Given the description of an element on the screen output the (x, y) to click on. 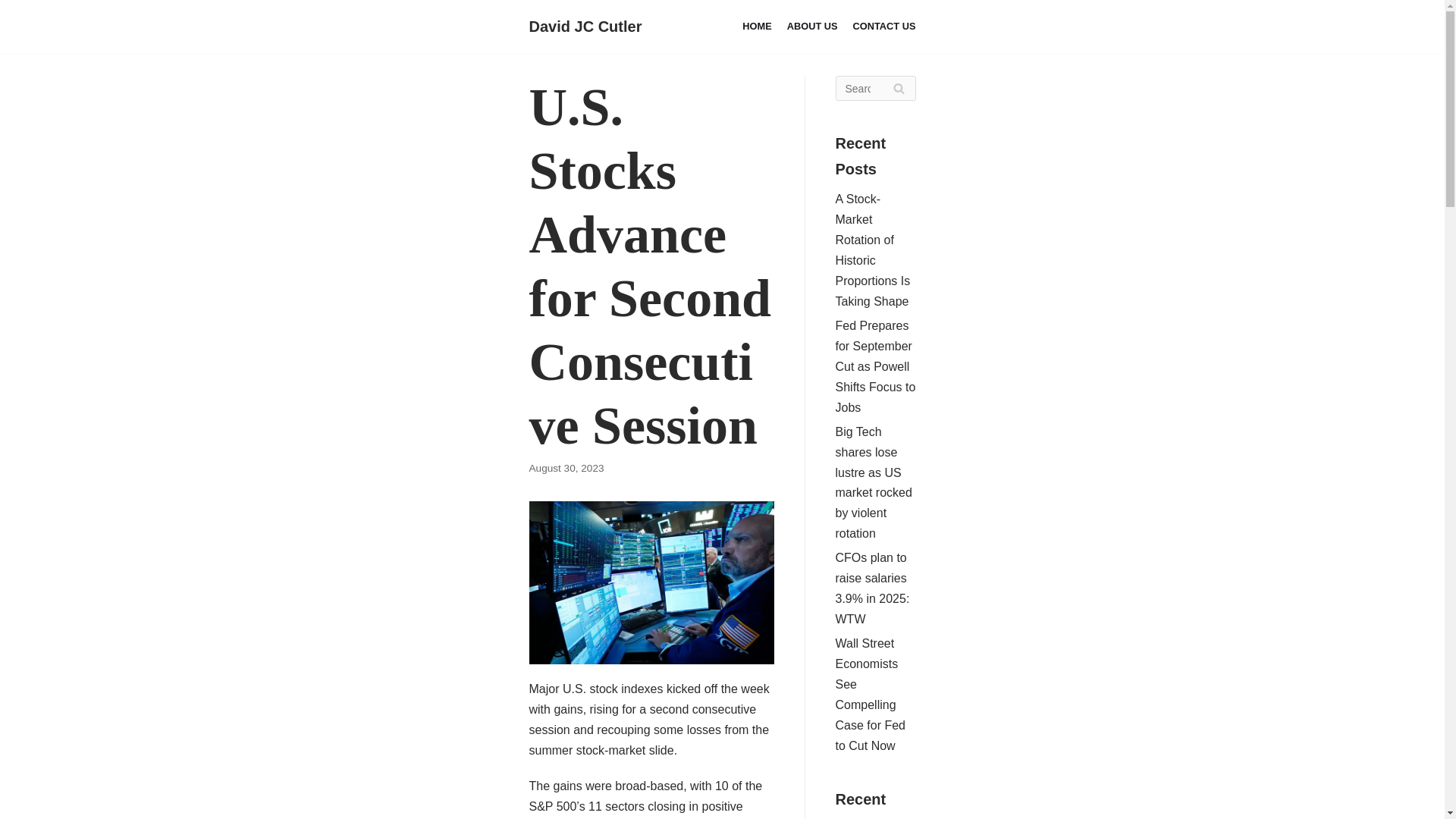
Search (897, 88)
HOME (756, 26)
David JC Cutler (585, 26)
Skip to content (15, 31)
Search (897, 88)
Search (897, 88)
ABOUT US (812, 26)
CONTACT US (884, 26)
David JC Cutler (585, 26)
